Given the description of an element on the screen output the (x, y) to click on. 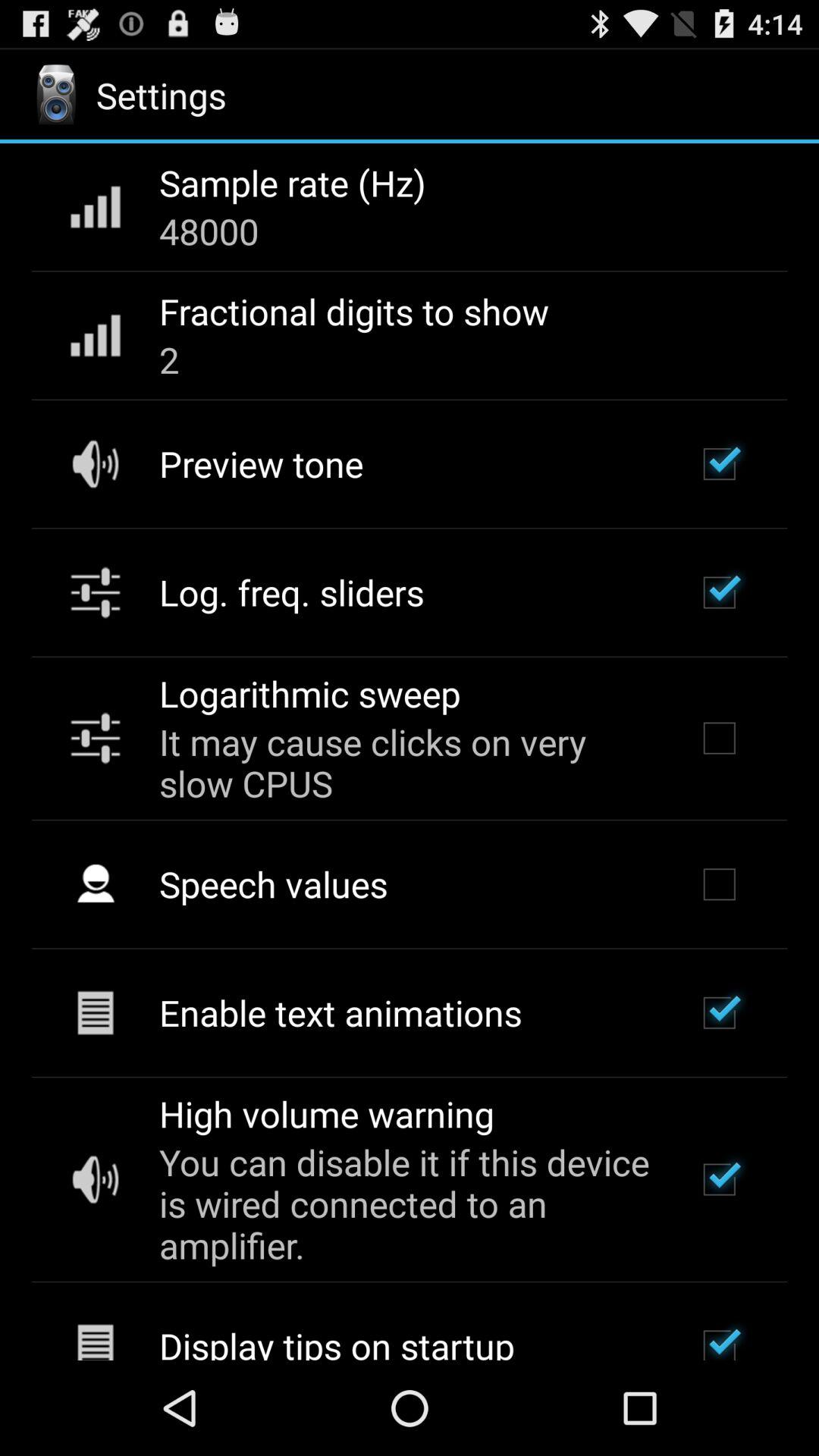
swipe until the speech values (273, 883)
